Given the description of an element on the screen output the (x, y) to click on. 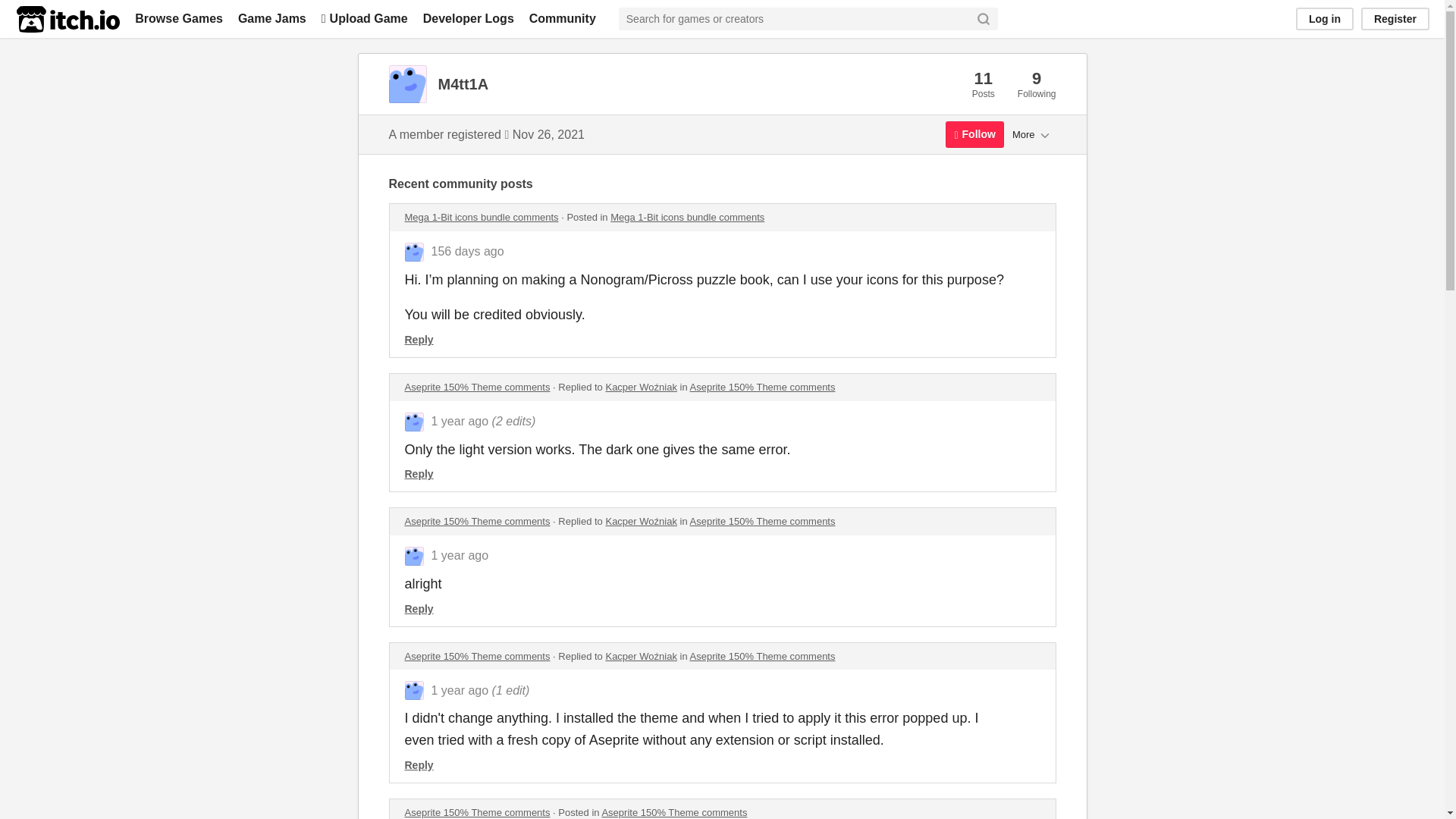
Developer Logs (468, 18)
Upload Game (364, 18)
Mega 1-Bit icons bundle comments (481, 216)
Register (1395, 18)
Browse Games (178, 18)
itch.io (67, 18)
Game Jams (271, 18)
156 days ago (466, 250)
2023-07-06 15:09:05 (458, 554)
2023-07-06 13:25:31 (458, 689)
Follow (973, 134)
Reply (418, 339)
Community (562, 18)
Log in (1324, 18)
2024-02-20 17:20:07 (466, 250)
